Given the description of an element on the screen output the (x, y) to click on. 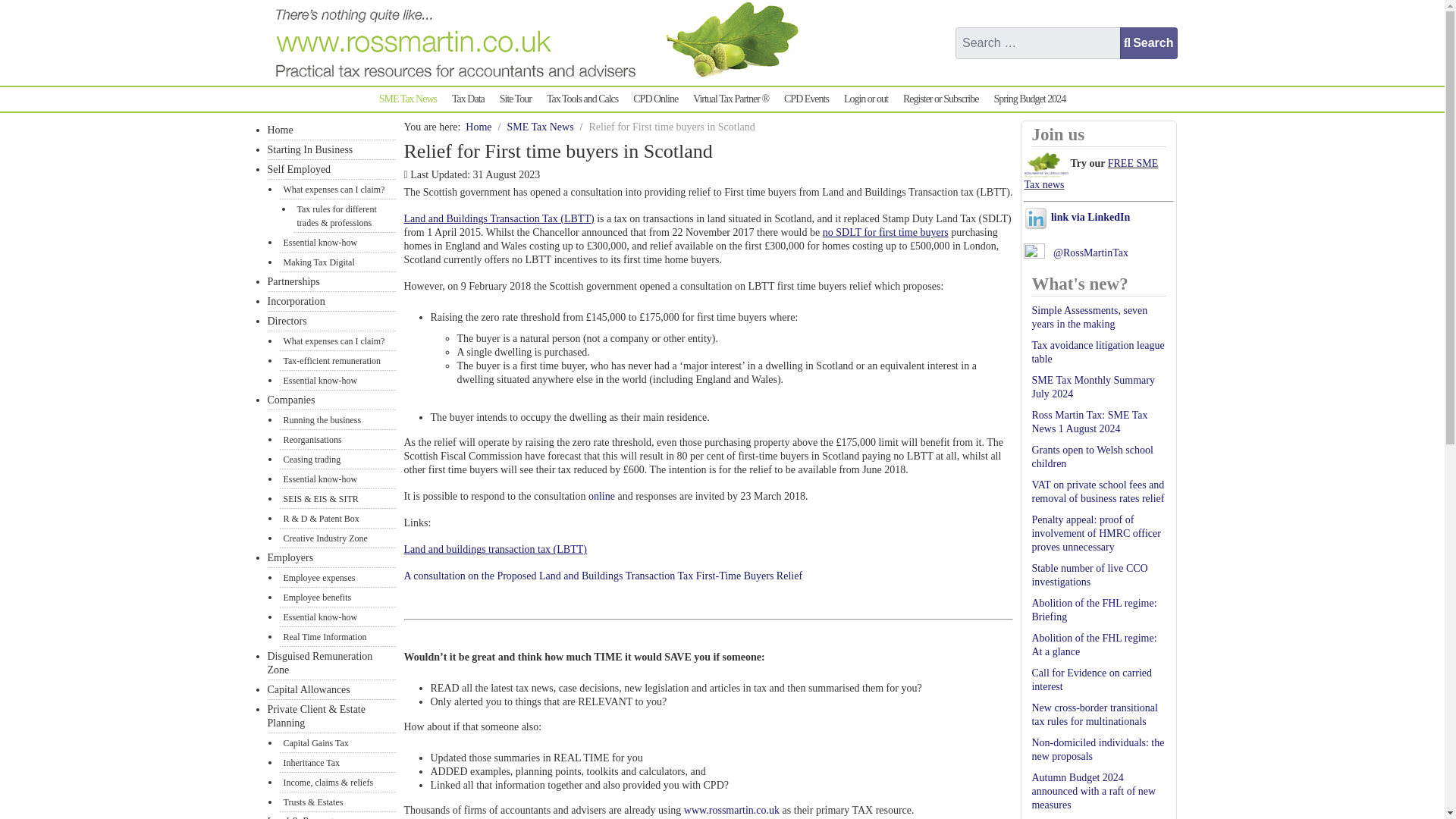
Directors (331, 321)
What expenses can I claim? (337, 189)
Register or Subscribe (940, 98)
Running the business (337, 419)
Login or out (865, 98)
Search (1147, 42)
Tax Tools and Calcs (582, 98)
Self Employed (331, 169)
Capital Allowances (331, 690)
Starting In Business (331, 149)
Creative Industry Zone (337, 537)
Essential know-how (337, 617)
CPD Online (655, 98)
Essential know-how (337, 380)
Reorganisations (337, 439)
